Given the description of an element on the screen output the (x, y) to click on. 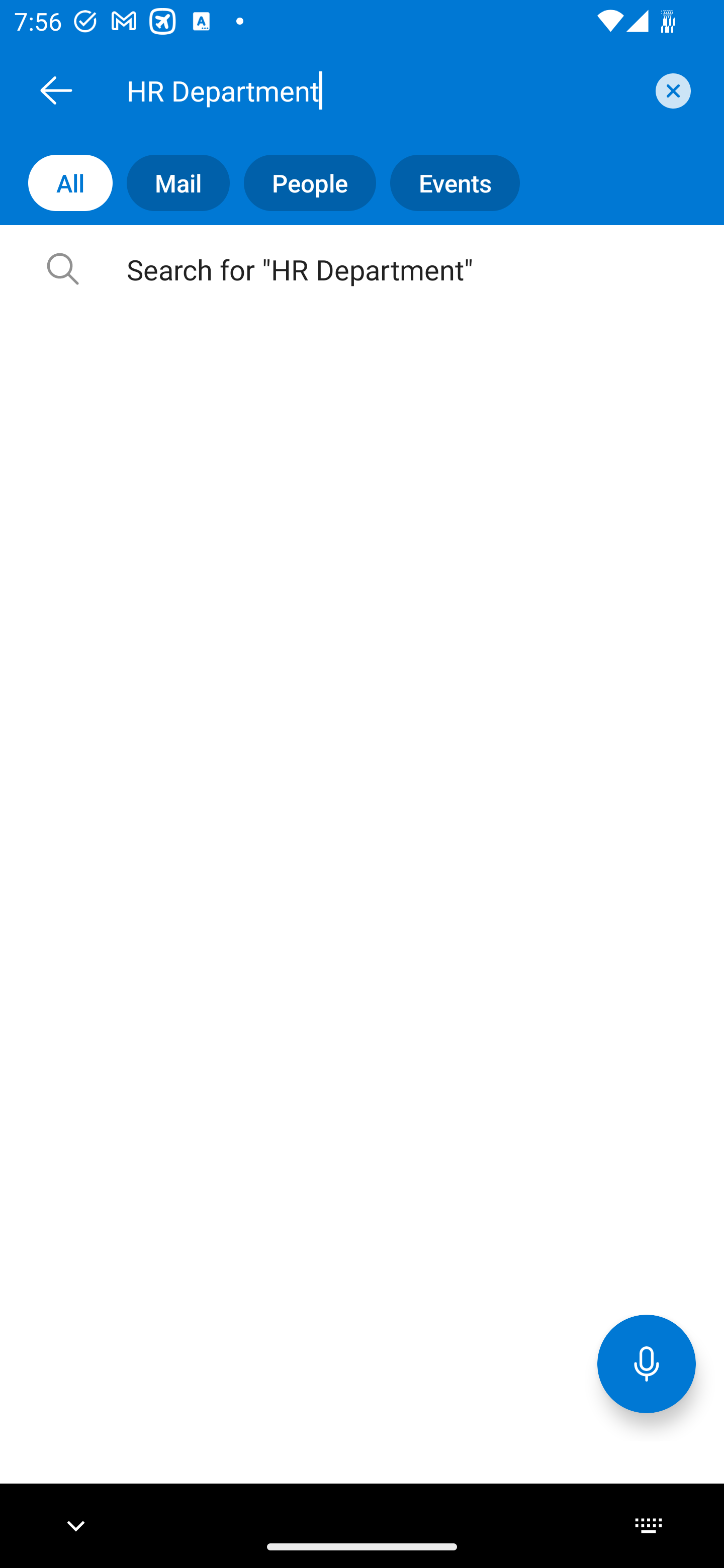
Back (55, 89)
HR Department (384, 89)
clear search (670, 90)
Mail (170, 183)
People (302, 183)
Events (447, 183)
Voice Assistant (646, 1362)
